Given the description of an element on the screen output the (x, y) to click on. 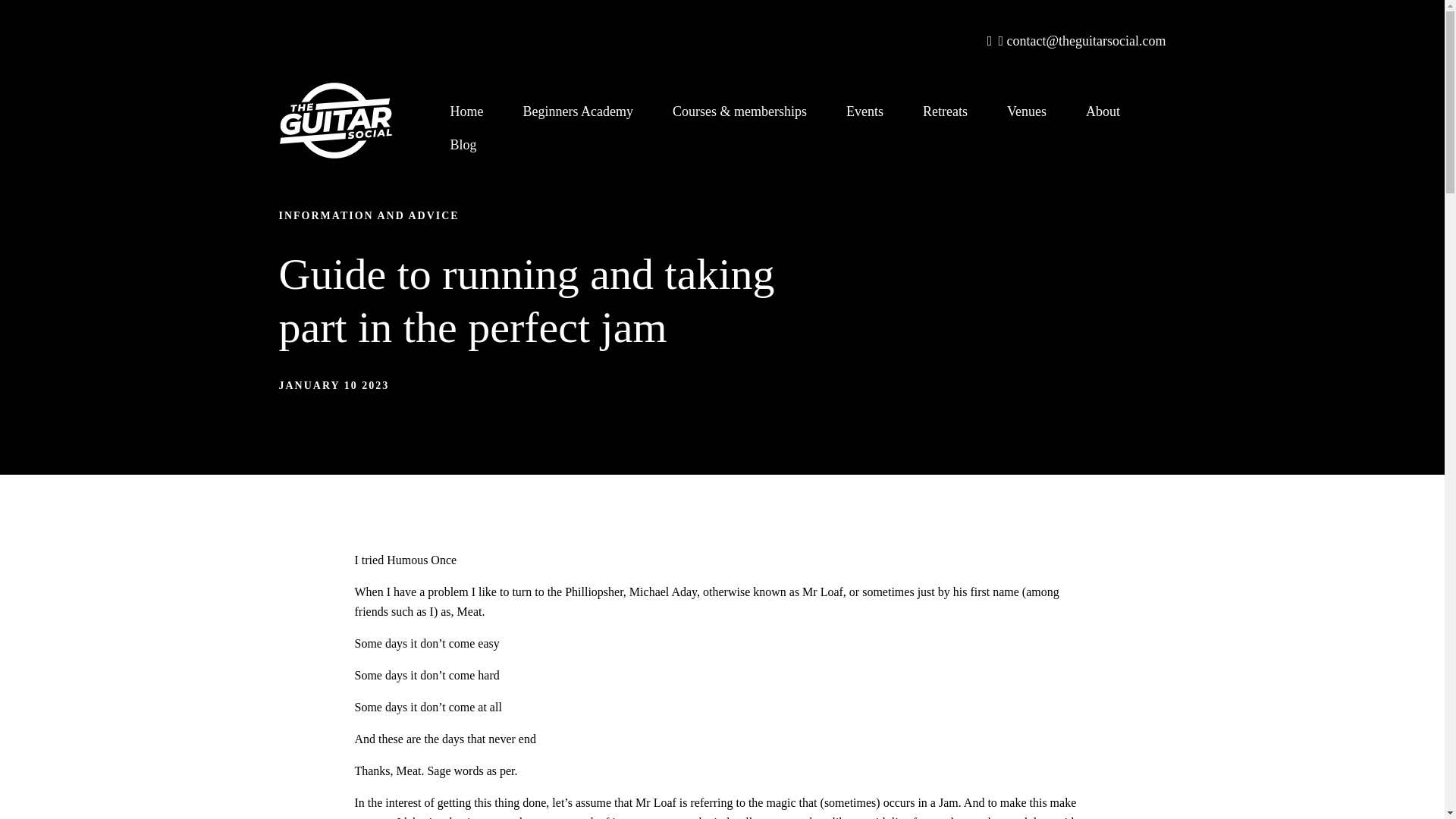
Blog (463, 144)
Events (864, 111)
Venues (1026, 111)
Retreats (945, 111)
About (1103, 111)
Beginners Academy (578, 111)
Home (467, 111)
